Given the description of an element on the screen output the (x, y) to click on. 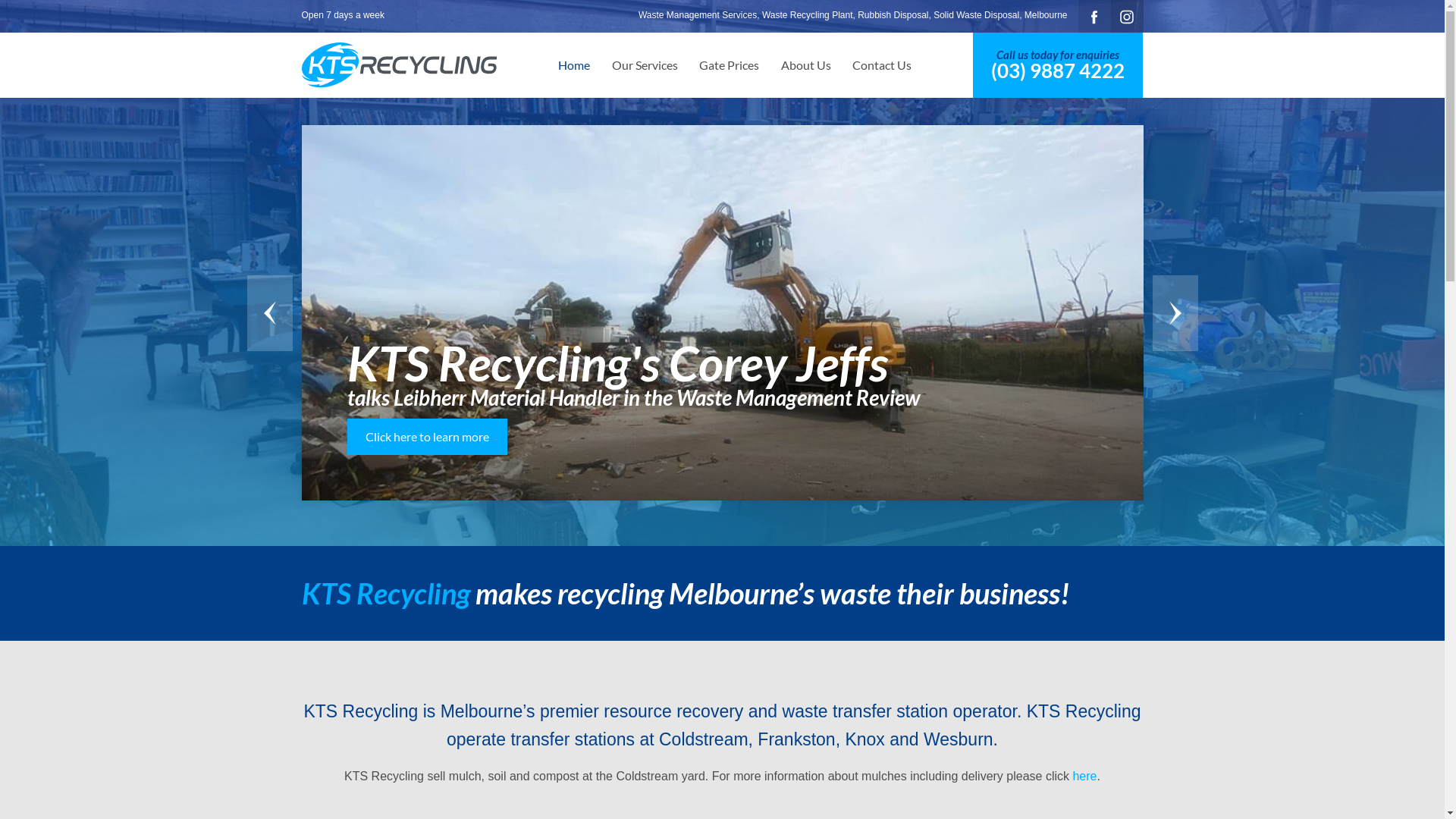
Contact Us Element type: text (881, 64)
Next Element type: text (1175, 312)
About Us Element type: text (805, 64)
Gate Prices Element type: text (729, 64)
Skip to content Element type: text (40, 10)
Our Services Element type: text (644, 64)
here Element type: text (1084, 775)
Call us today for enquiries
(03) 9887 4222 Element type: text (1057, 64)
Home Element type: text (574, 64)
Previous Element type: text (269, 312)
Click here to learn more Element type: text (427, 436)
